Given the description of an element on the screen output the (x, y) to click on. 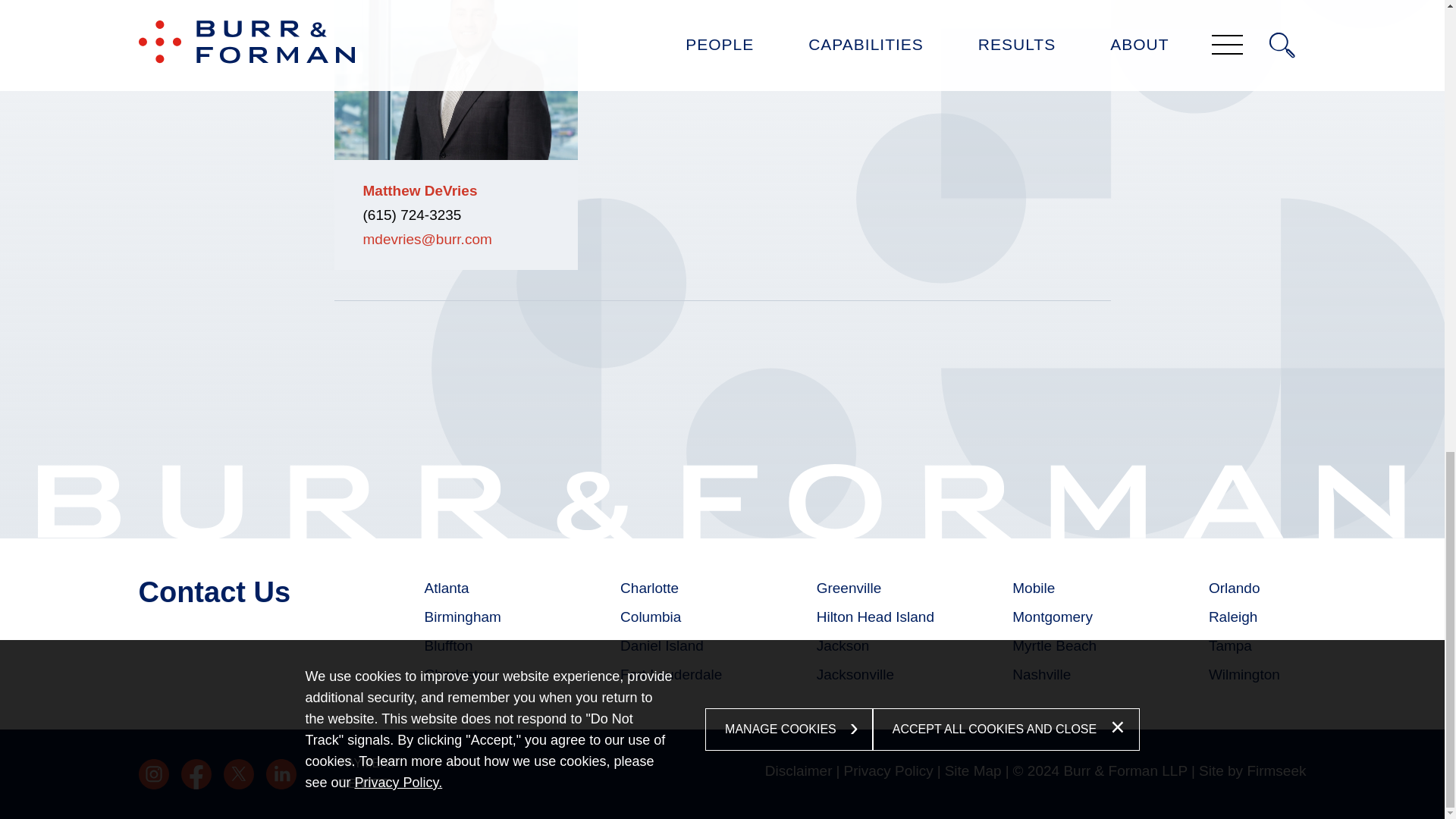
Linkedin (279, 774)
Twitter (237, 774)
Facebook (195, 774)
Instagram (153, 774)
